Given the description of an element on the screen output the (x, y) to click on. 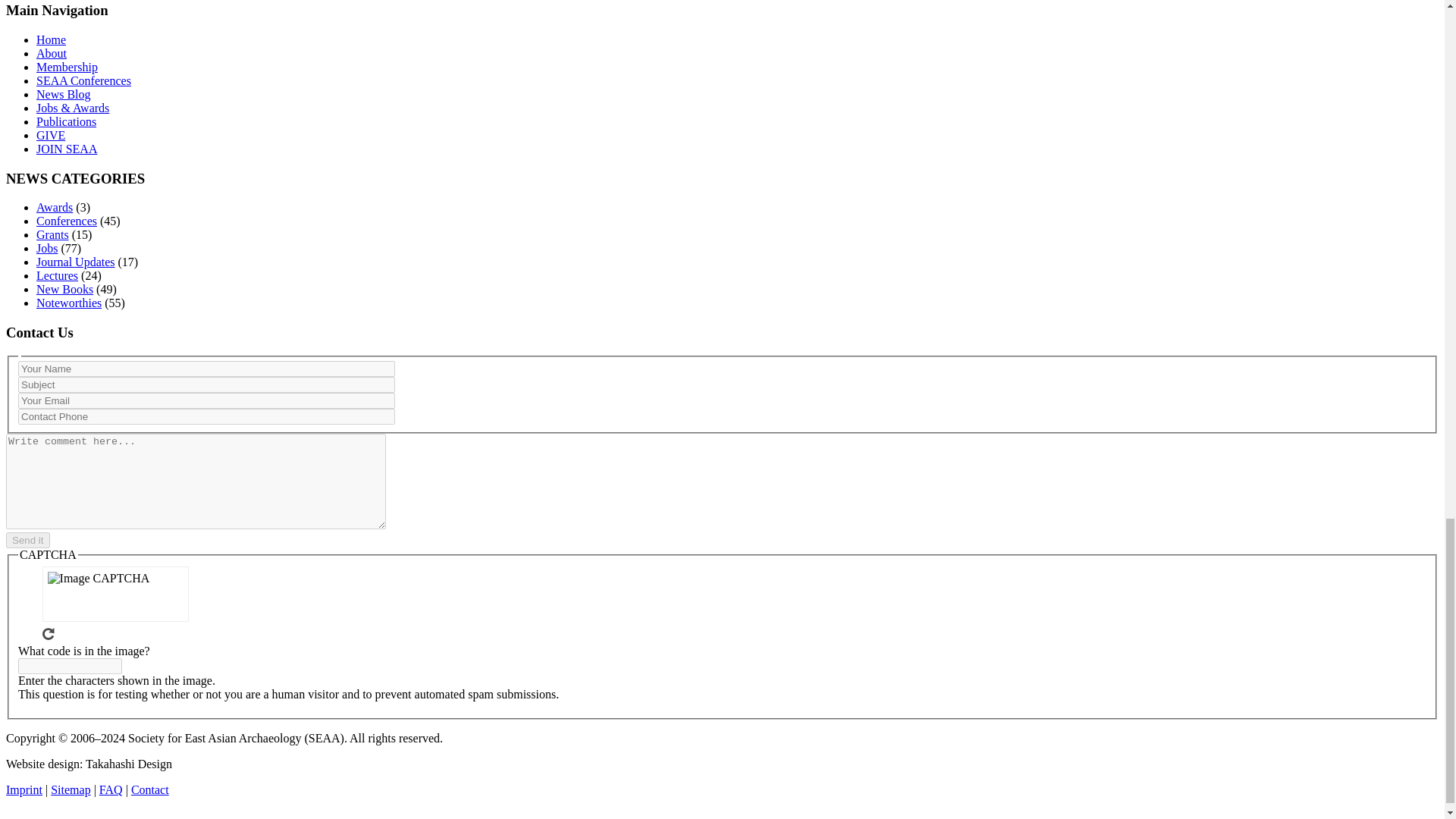
Send it (27, 539)
